Given the description of an element on the screen output the (x, y) to click on. 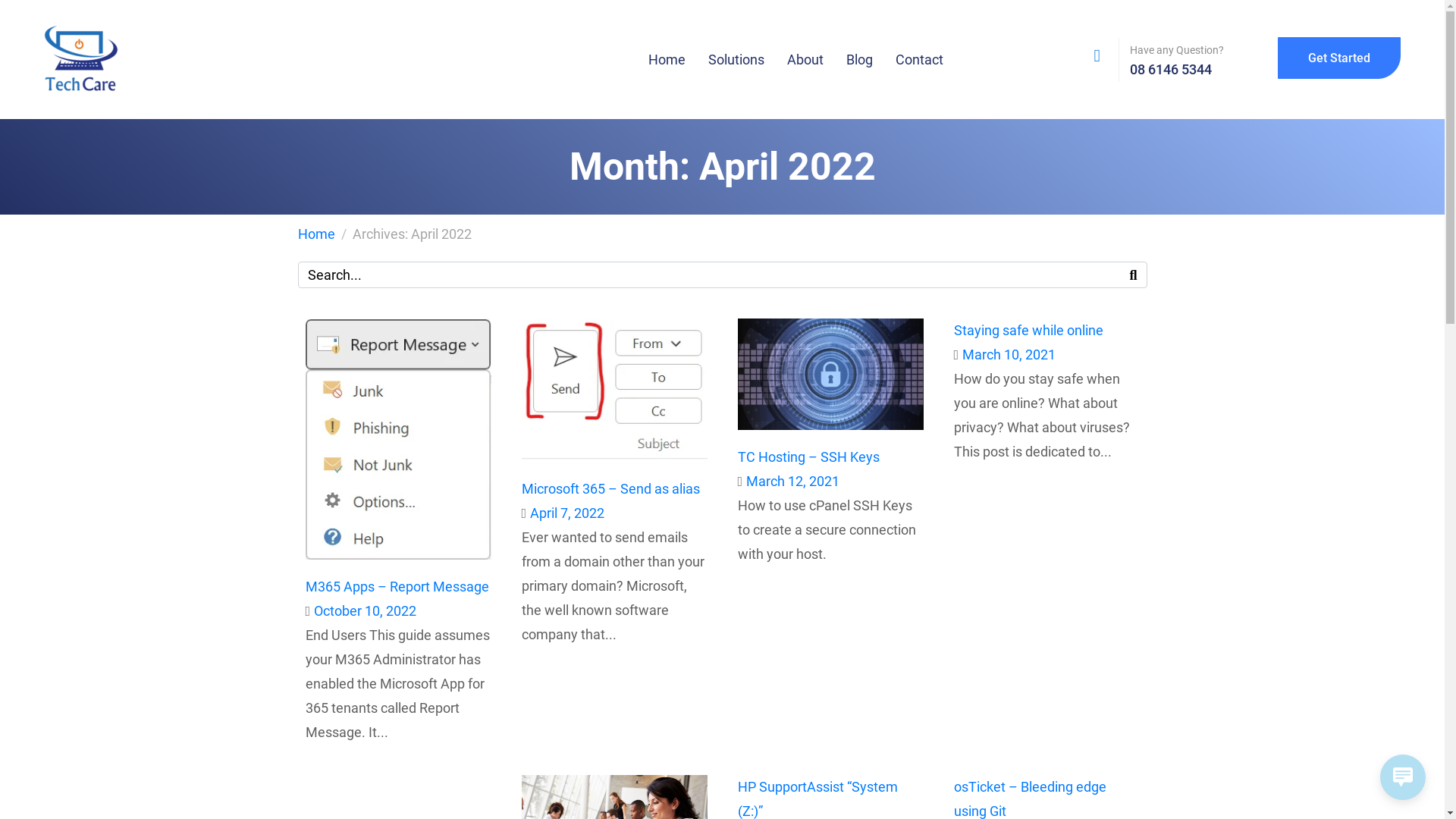
Contact Element type: text (919, 59)
Home Element type: text (315, 233)
Get Started Element type: text (1338, 57)
Solutions Element type: text (736, 59)
March 10, 2021 Element type: text (1008, 354)
March 12, 2021 Element type: text (792, 481)
About Element type: text (805, 59)
Staying safe while online Element type: text (1028, 330)
Blog Element type: text (859, 59)
Home Element type: text (666, 59)
April 7, 2022 Element type: text (567, 512)
October 10, 2022 Element type: text (364, 610)
Have any Question?
08 6146 5344 Element type: text (1203, 59)
